Given the description of an element on the screen output the (x, y) to click on. 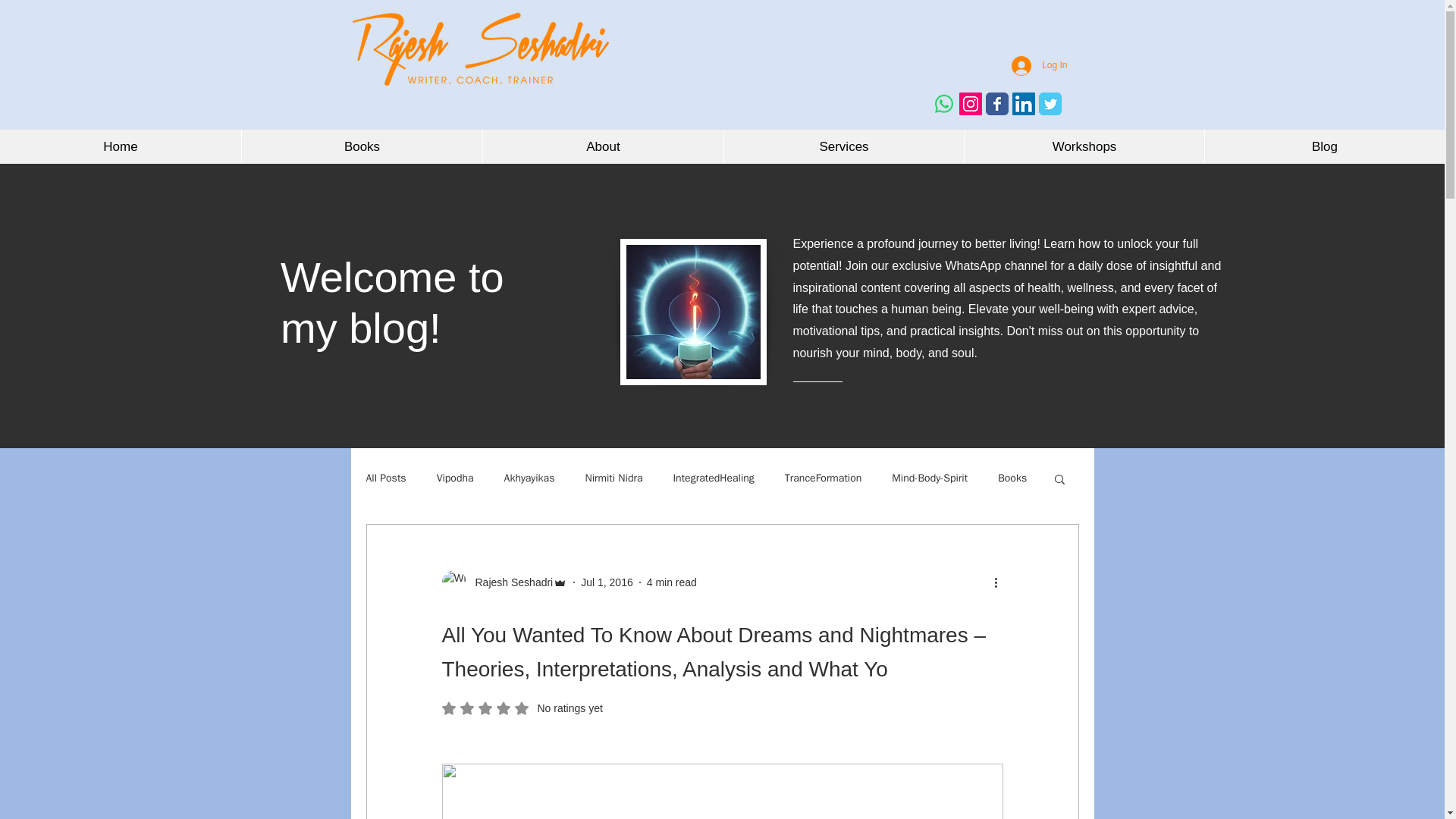
4 min read (671, 582)
Home (120, 146)
Workshops (1083, 146)
About (602, 146)
Rajesh Seshadri (504, 582)
IntegratedHealing (713, 478)
All Posts (385, 478)
Books (361, 146)
Akhyayikas (528, 478)
Books (1011, 478)
Mind-Body-Spirit (929, 478)
TranceFormation (822, 478)
Services (843, 146)
Log In (1039, 65)
